Given the description of an element on the screen output the (x, y) to click on. 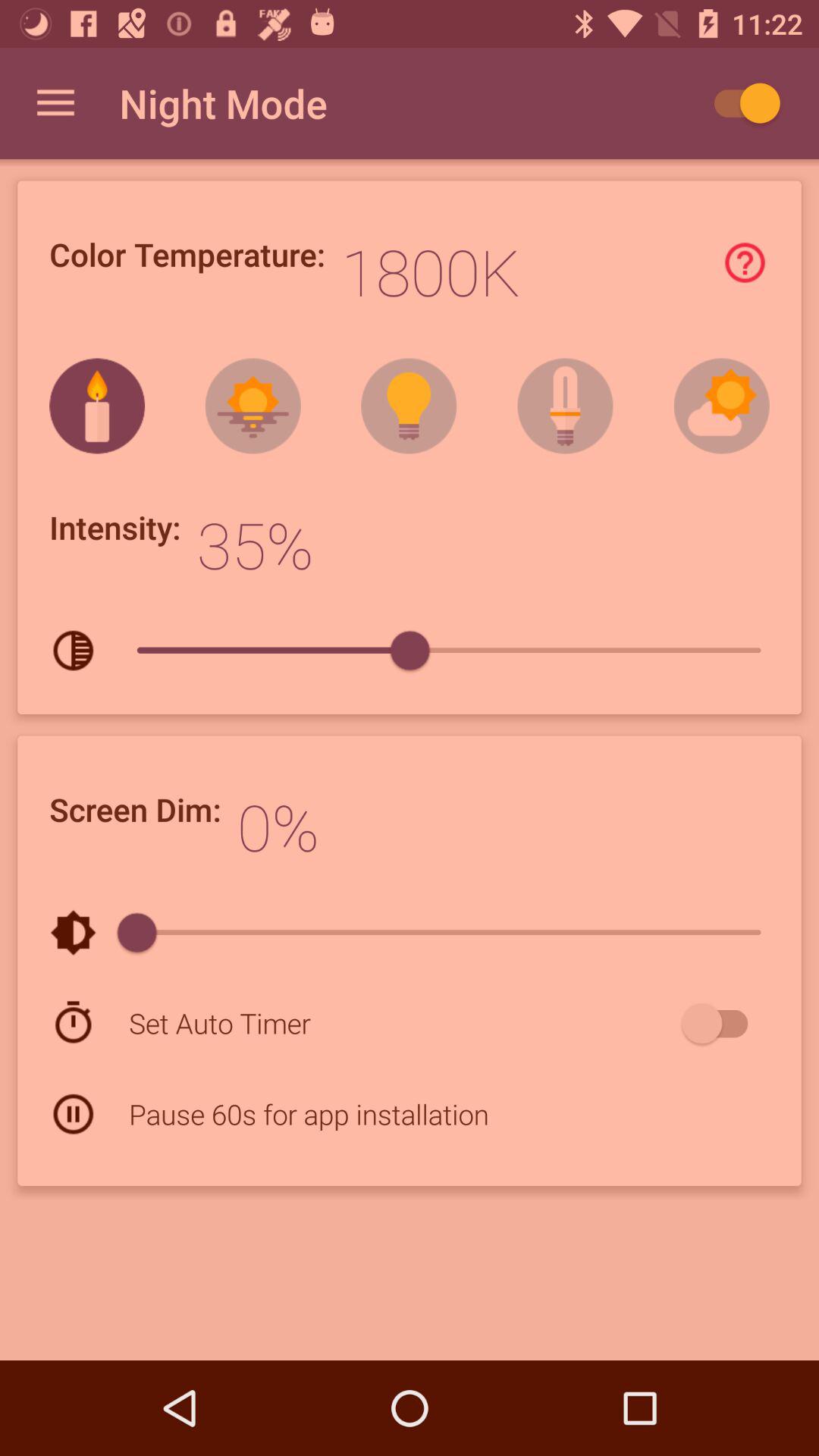
click the auto play (739, 103)
